Given the description of an element on the screen output the (x, y) to click on. 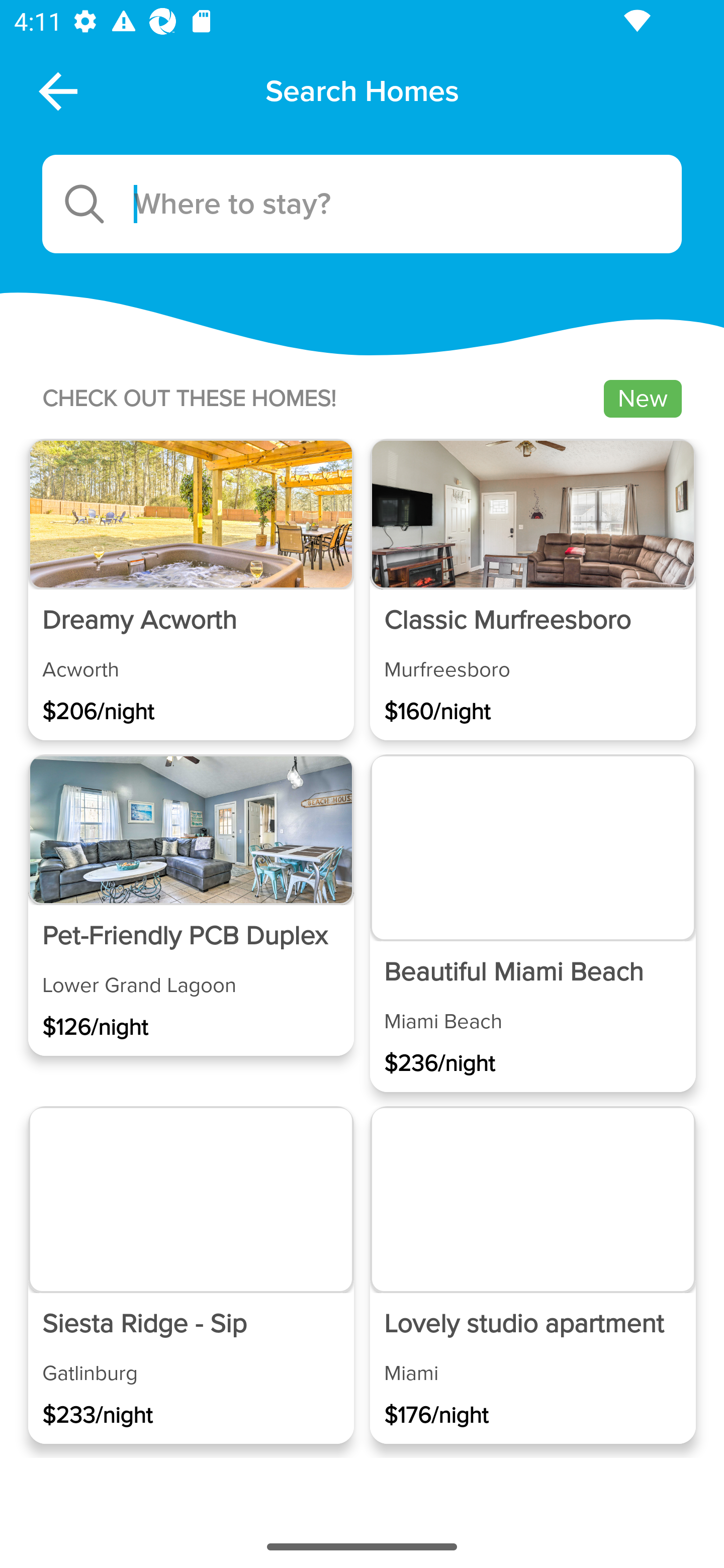
Icon close screen (55, 90)
Search icon Where to stay? (361, 204)
